Given the description of an element on the screen output the (x, y) to click on. 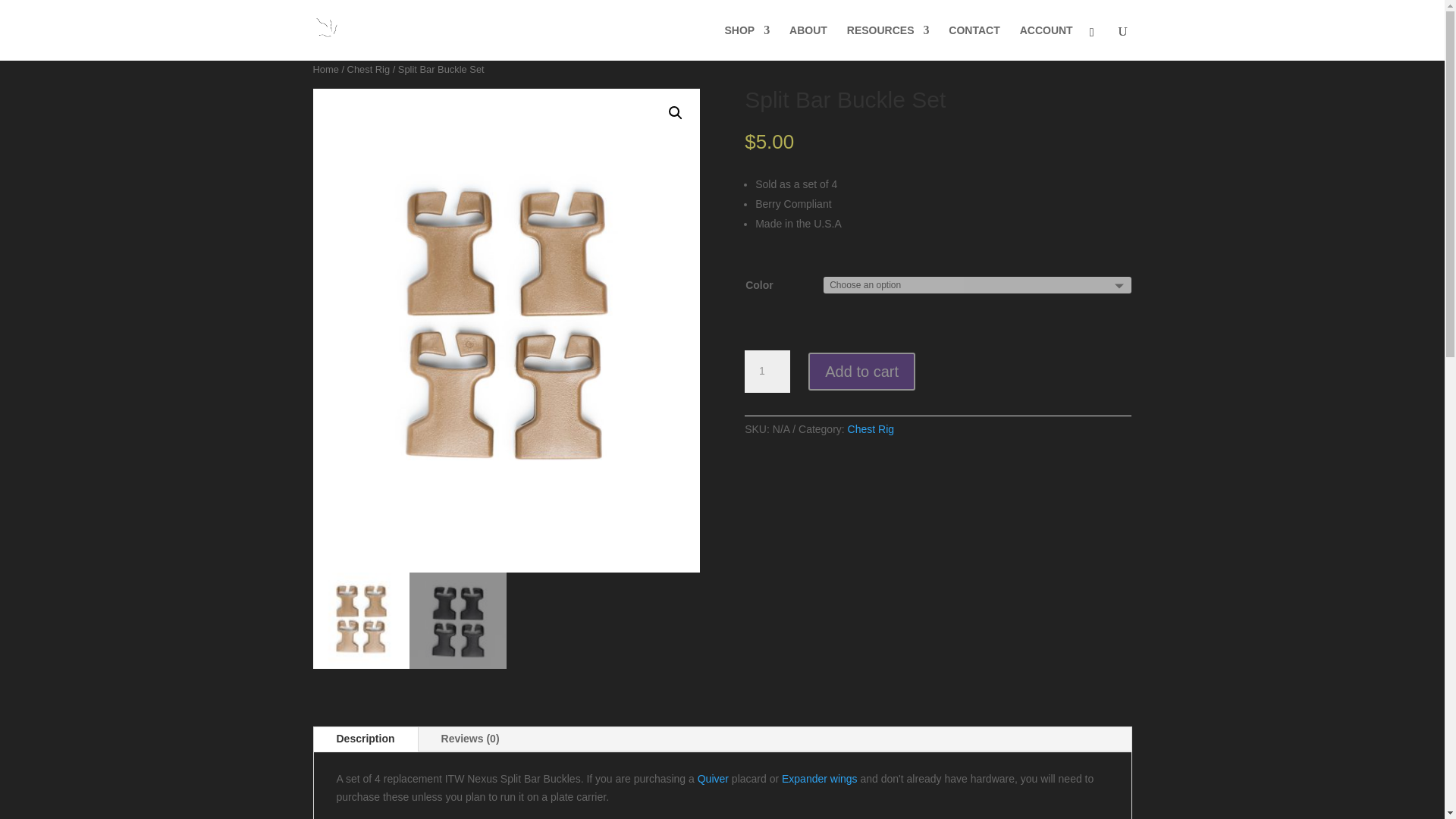
Chest Rig (870, 428)
Quiver (713, 778)
ACCOUNT (1046, 42)
Description (365, 739)
ABOUT (808, 42)
Add to cart (861, 371)
Home (325, 69)
RESOURCES (888, 42)
Chest Rig (368, 69)
1 (767, 371)
